Given the description of an element on the screen output the (x, y) to click on. 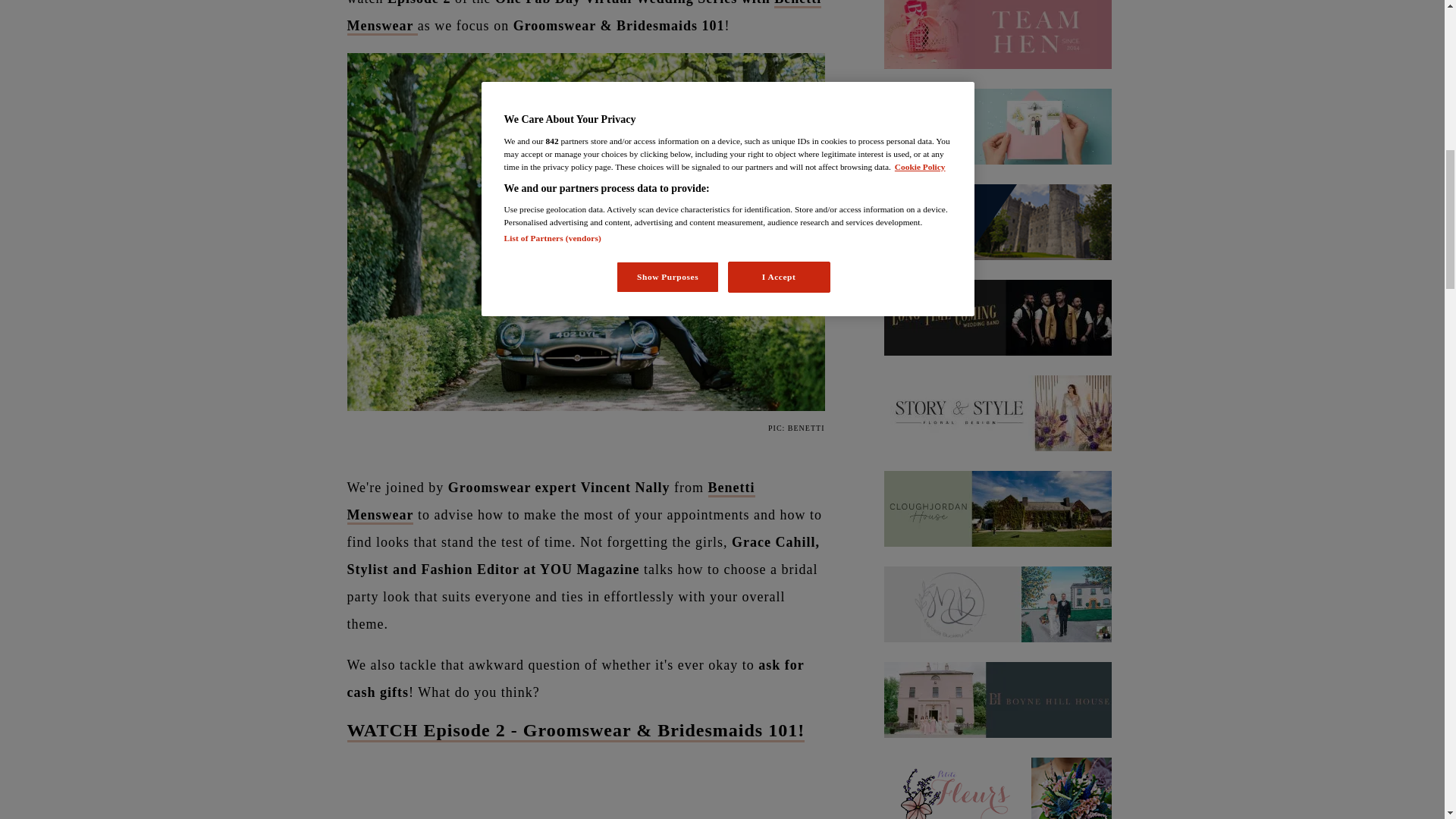
One Fab Day Wedding Showcase Episode 2 (586, 780)
